Given the description of an element on the screen output the (x, y) to click on. 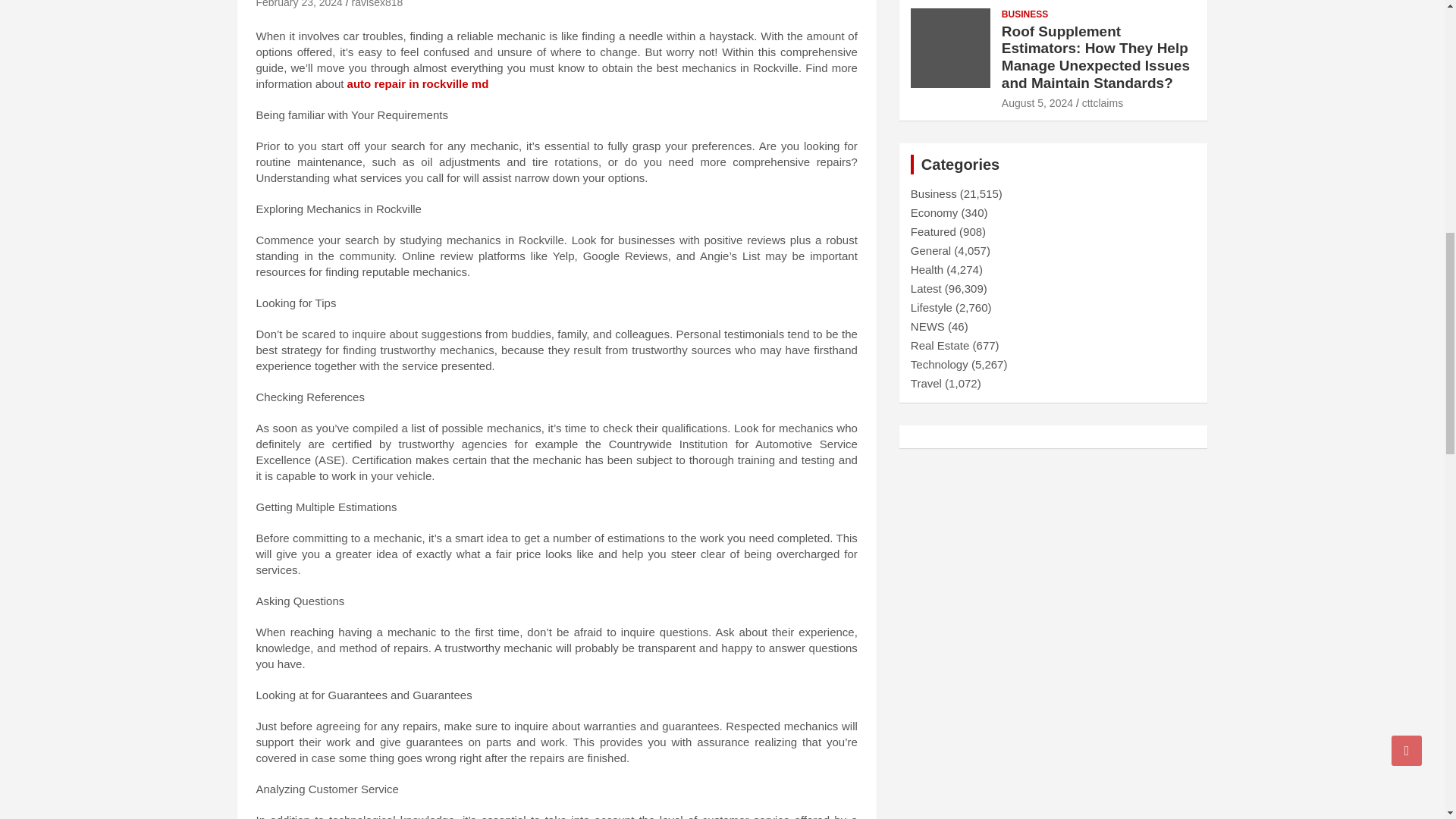
ravisex818 (377, 4)
February 23, 2024 (299, 4)
The Best Guide to Finding Trustworthy Mechanics in Rockville (299, 4)
auto repair in rockville md (418, 83)
